Given the description of an element on the screen output the (x, y) to click on. 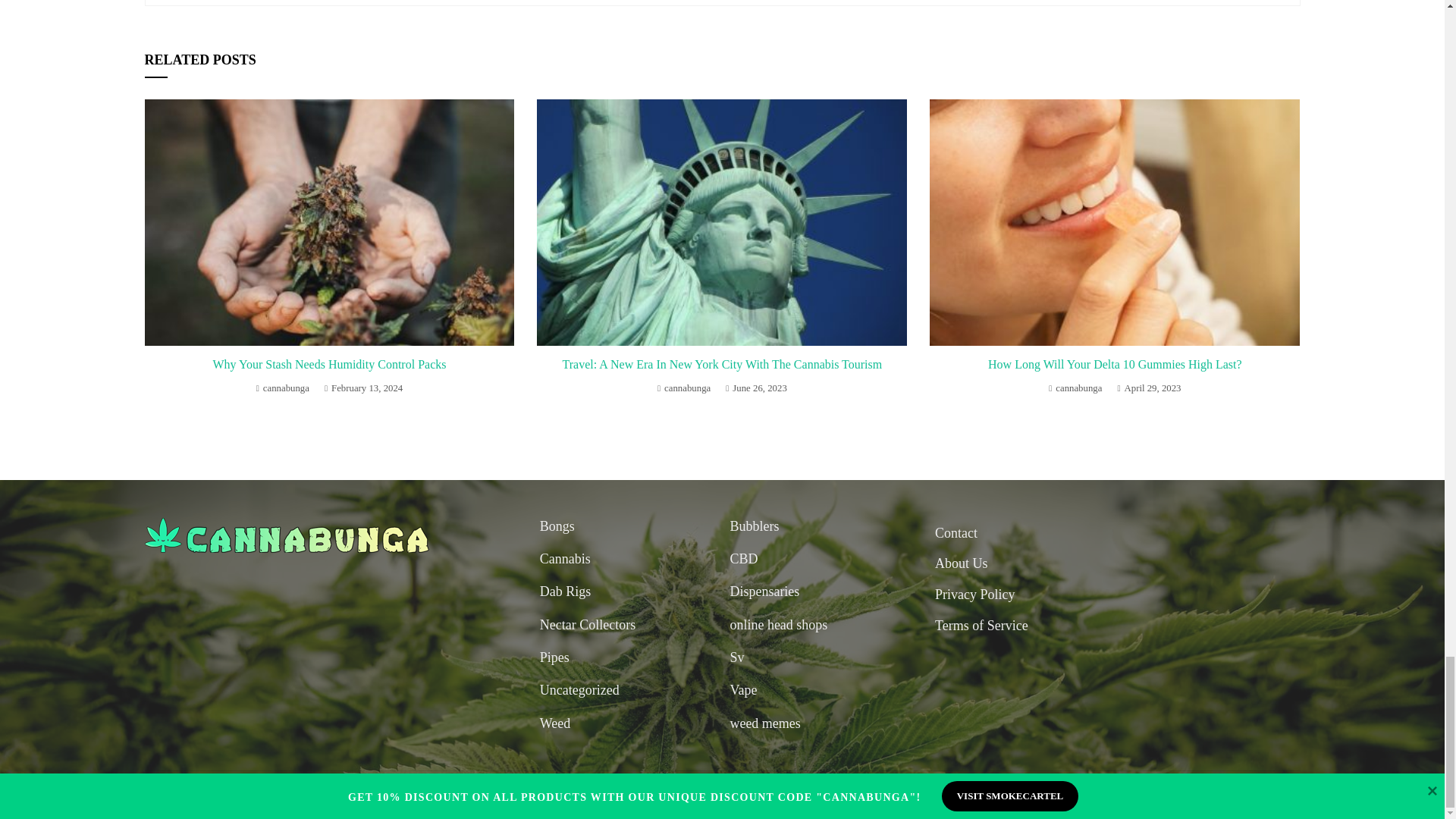
Why Your Stash Needs Humidity Control Packs (328, 364)
How Long Will Your Delta 10 Gummies High Last? (1114, 364)
Travel: A New Era in New York City with the Cannabis Tourism (722, 364)
